Given the description of an element on the screen output the (x, y) to click on. 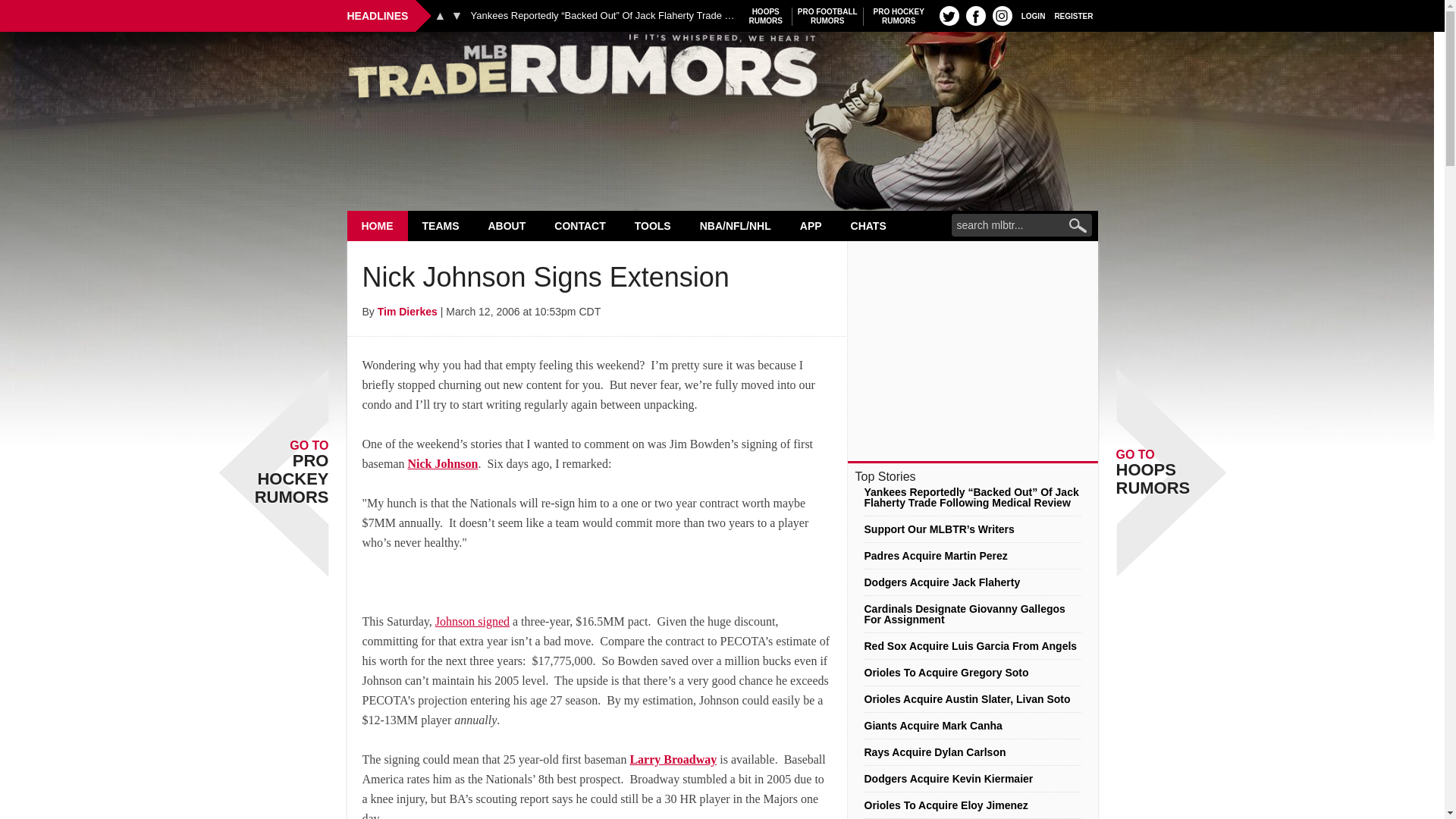
LOGIN (1032, 15)
HOME (377, 225)
REGISTER (827, 16)
Twitter profile (1073, 15)
TEAMS (949, 15)
Previous (440, 225)
Search (439, 15)
MLB Trade Rumors (1001, 15)
FB profile (722, 69)
Next (898, 16)
